Given the description of an element on the screen output the (x, y) to click on. 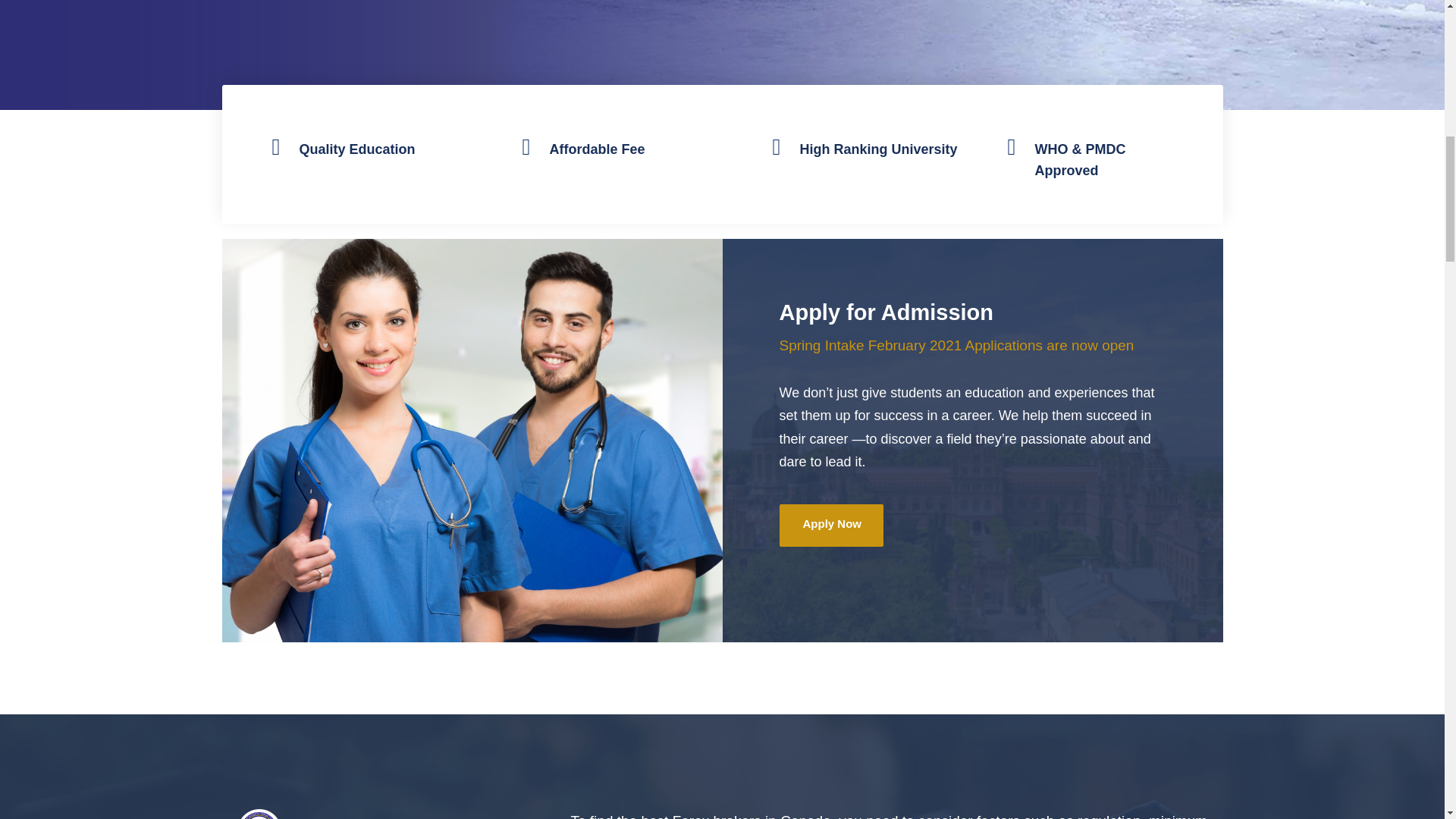
Apply Now (830, 525)
